Given the description of an element on the screen output the (x, y) to click on. 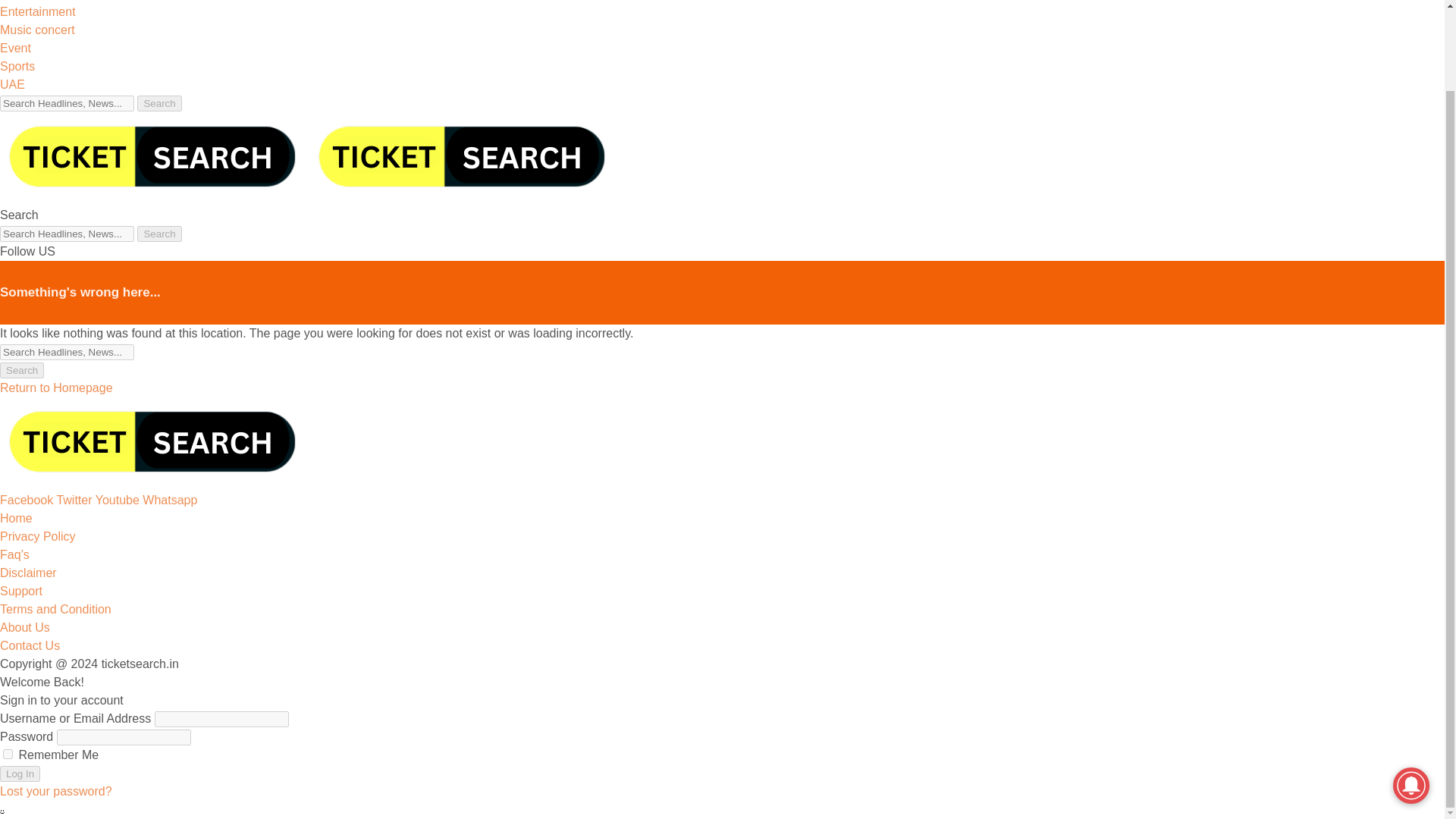
Facebook (28, 499)
forever (7, 754)
Log In (20, 773)
Search (21, 370)
Youtube (119, 499)
Home (16, 517)
Search (158, 233)
Search (158, 103)
Terms and Condition (56, 608)
About Us (24, 626)
